Given the description of an element on the screen output the (x, y) to click on. 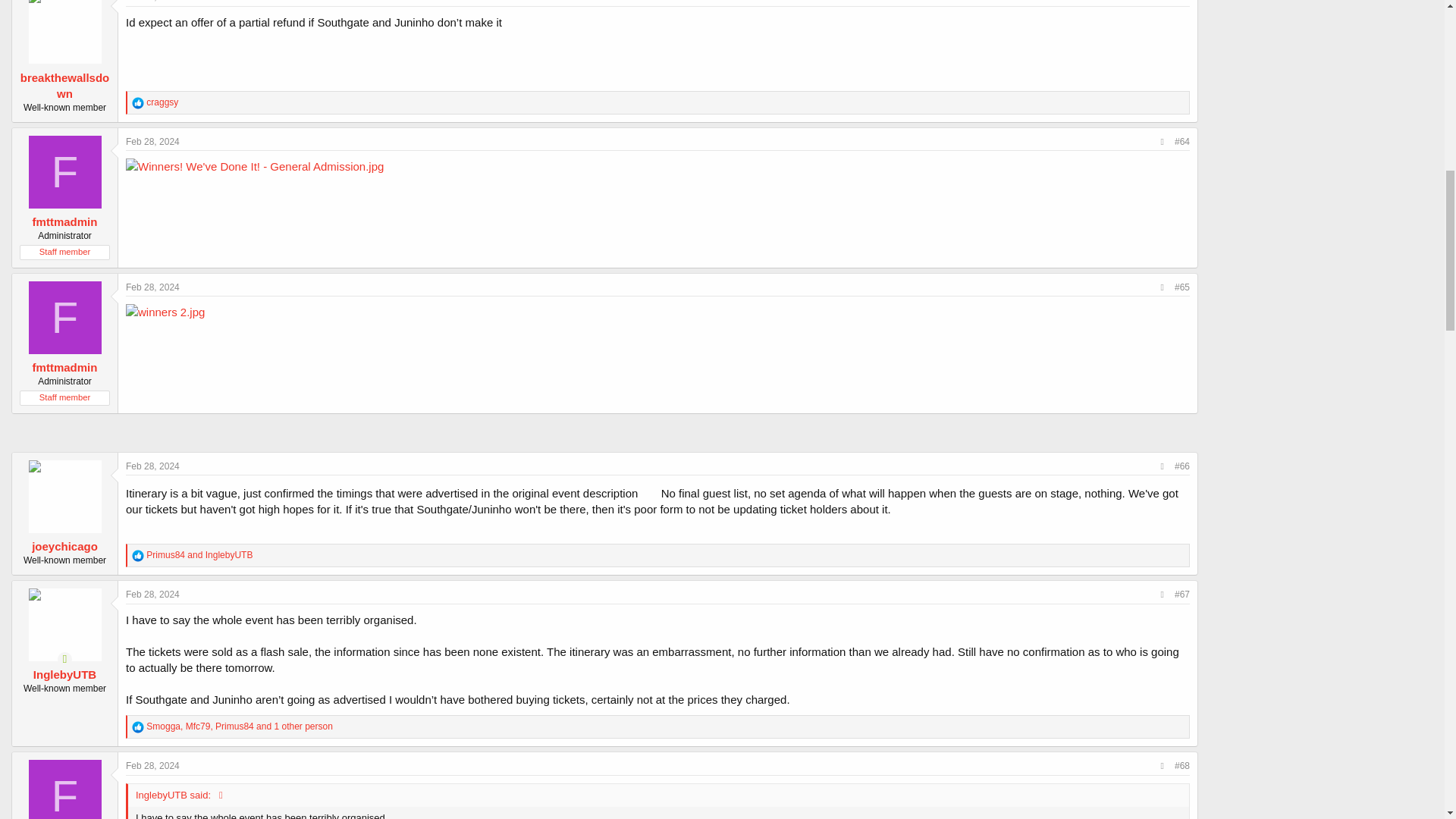
winners 2.jpg (165, 311)
Winners! We've Done It! - General Admission.jpg (254, 166)
Feb 28, 2024 at 7:02 PM (152, 141)
Feb 28, 2024 at 7:03 PM (152, 286)
Feb 28, 2024 at 7:02 PM (152, 1)
Like (138, 102)
